Given the description of an element on the screen output the (x, y) to click on. 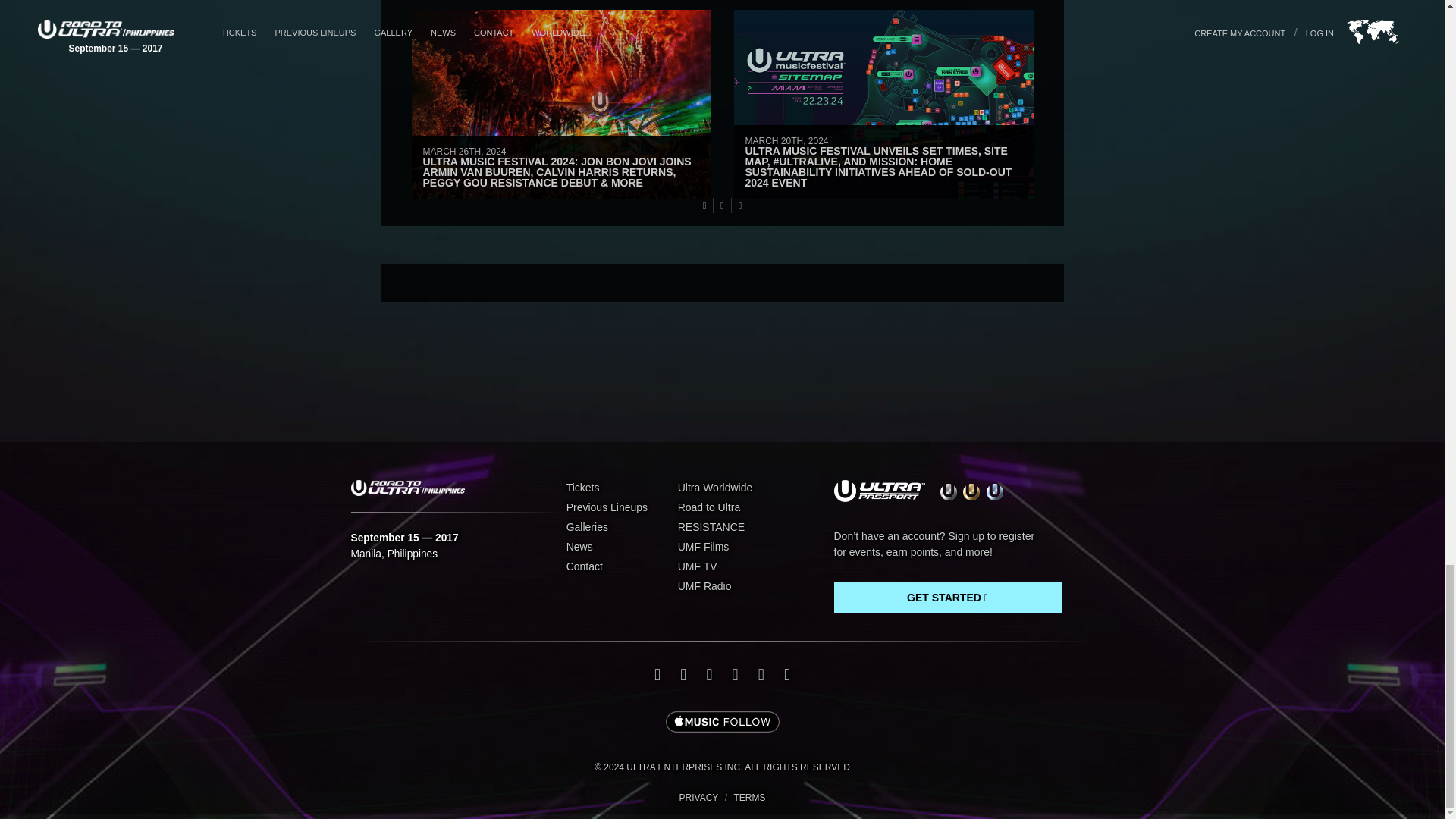
Road to Ultra Philippines's Terms of Use (748, 797)
Follow us on Apple Music (722, 722)
Ultra Enterprises Inc. (722, 767)
Road to Ultra Philippines's Privacy Policy (698, 797)
